Given the description of an element on the screen output the (x, y) to click on. 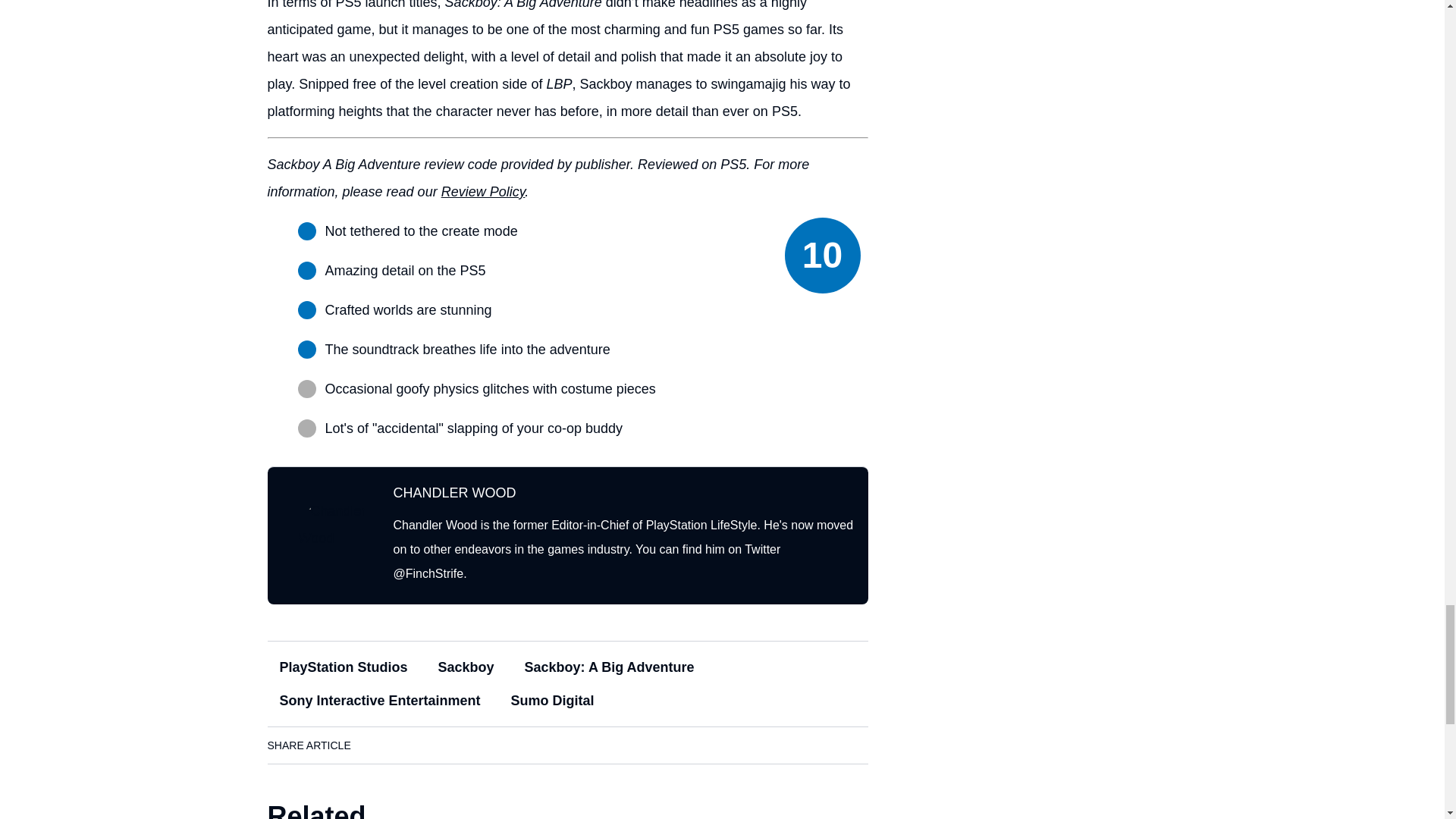
LinkedIn (420, 745)
Pinterest (505, 745)
Sackboy (466, 666)
CHANDLER WOOD (454, 492)
Facebook (377, 745)
PlayStation Studios (342, 666)
Sackboy: A Big Adventure (609, 666)
Sony Interactive Entertainment (379, 700)
Review Policy (483, 191)
Twitter (463, 745)
Sumo Digital (553, 700)
